Given the description of an element on the screen output the (x, y) to click on. 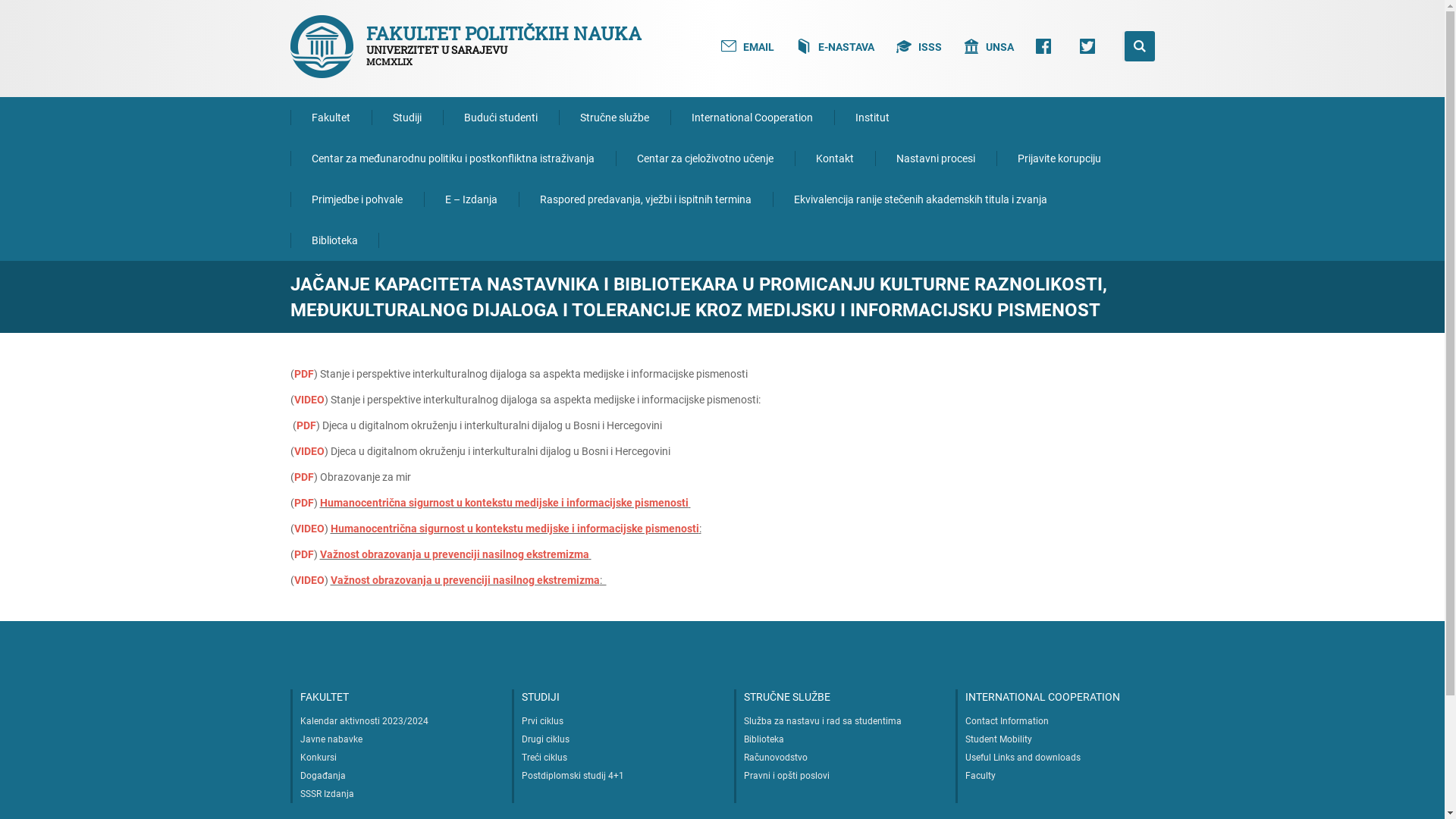
International Cooperation Element type: text (752, 117)
Prijavite korupciju Element type: text (1059, 158)
VIDEO Element type: text (309, 451)
VIDEO Element type: text (309, 580)
PDF Element type: text (303, 476)
Biblioteka Element type: text (763, 739)
PDF Element type: text (303, 502)
SSSR Izdanja Element type: text (327, 793)
Studiji Element type: text (406, 117)
PDF Element type: text (303, 373)
Contact Information Element type: text (1006, 720)
VIDEO Element type: text (309, 399)
UNSA Element type: text (988, 46)
Institut Element type: text (872, 117)
Kalendar aktivnosti 2023/2024 Element type: text (364, 720)
EMAIL Element type: text (746, 46)
Drugi ciklus Element type: text (545, 739)
Postdiplomski studij 4+1 Element type: text (572, 775)
ISSS Element type: text (919, 46)
Konkursi Element type: text (318, 757)
Primjedbe i pohvale Element type: text (356, 198)
PDF Element type: text (305, 425)
Kontakt Element type: text (834, 158)
E-NASTAVA Element type: text (835, 46)
Javne nabavke Element type: text (331, 739)
Nastavni procesi Element type: text (935, 158)
Prvi ciklus Element type: text (542, 720)
Student Mobility Element type: text (998, 739)
Useful Links and downloads Element type: text (1022, 757)
Biblioteka Element type: text (333, 239)
VIDEO Element type: text (309, 528)
Fakultet Element type: text (329, 117)
Faculty Element type: text (980, 775)
PDF Element type: text (303, 554)
